Given the description of an element on the screen output the (x, y) to click on. 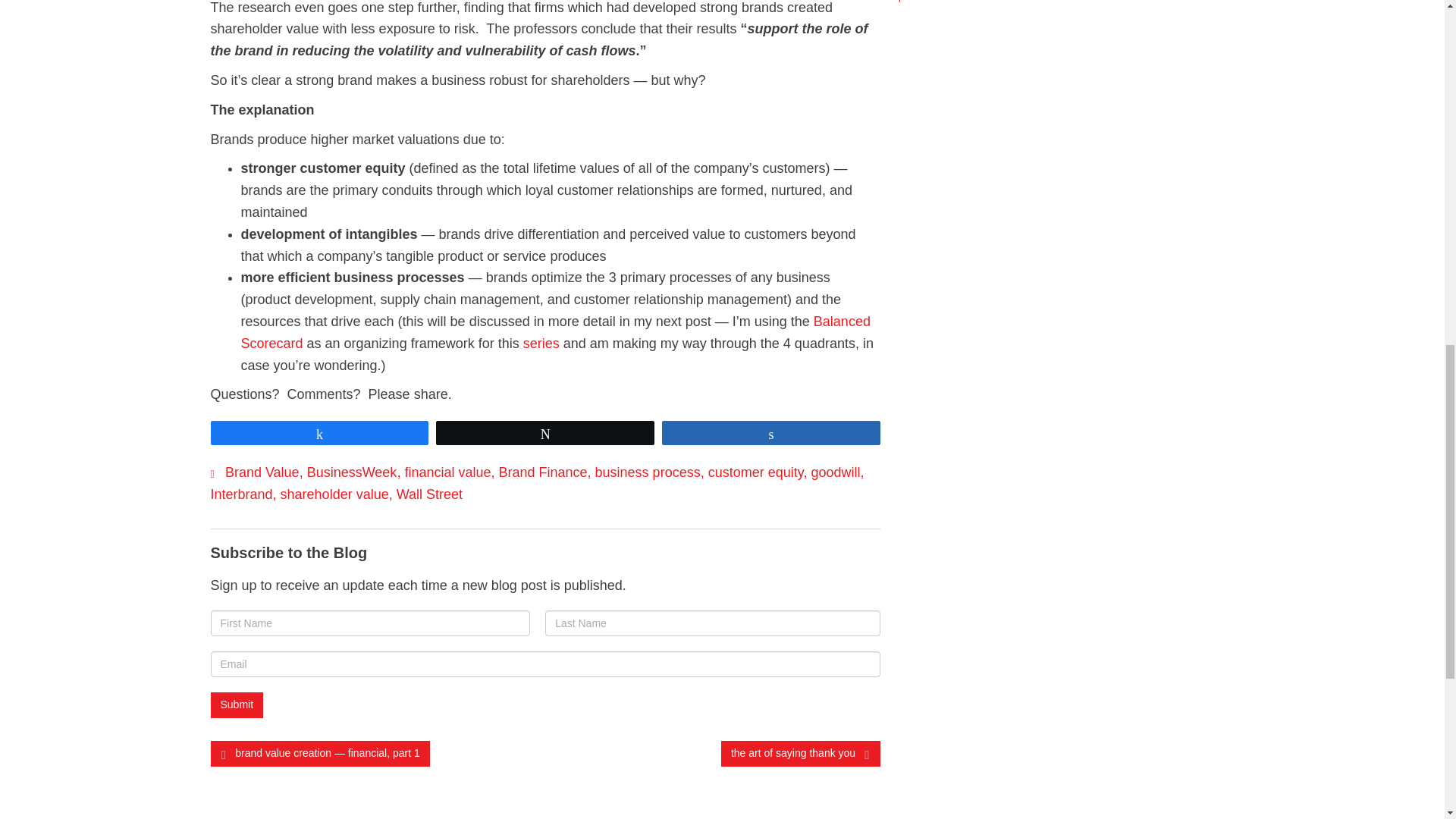
Submit (237, 705)
